Given the description of an element on the screen output the (x, y) to click on. 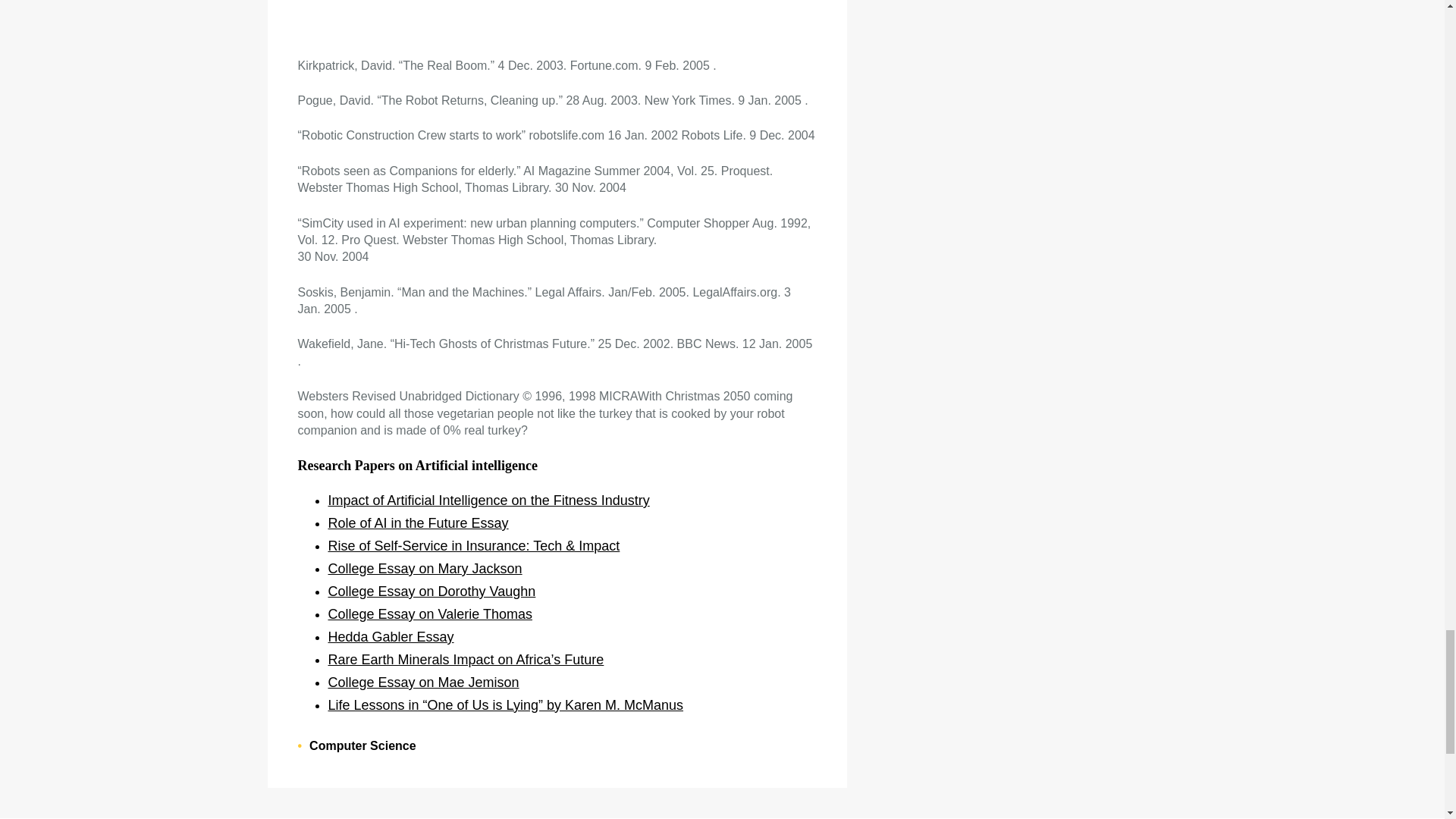
College Essay on Valerie Thomas (429, 613)
Hedda Gabler Essay (389, 636)
Role of AI in the Future Essay (417, 522)
Impact of Artificial Intelligence on the Fitness Industry (488, 500)
College Essay on Dorothy Vaughn (431, 590)
Computer Science (361, 745)
College Essay on Mary Jackson (424, 568)
College Essay on Mae Jemison (422, 682)
